Given the description of an element on the screen output the (x, y) to click on. 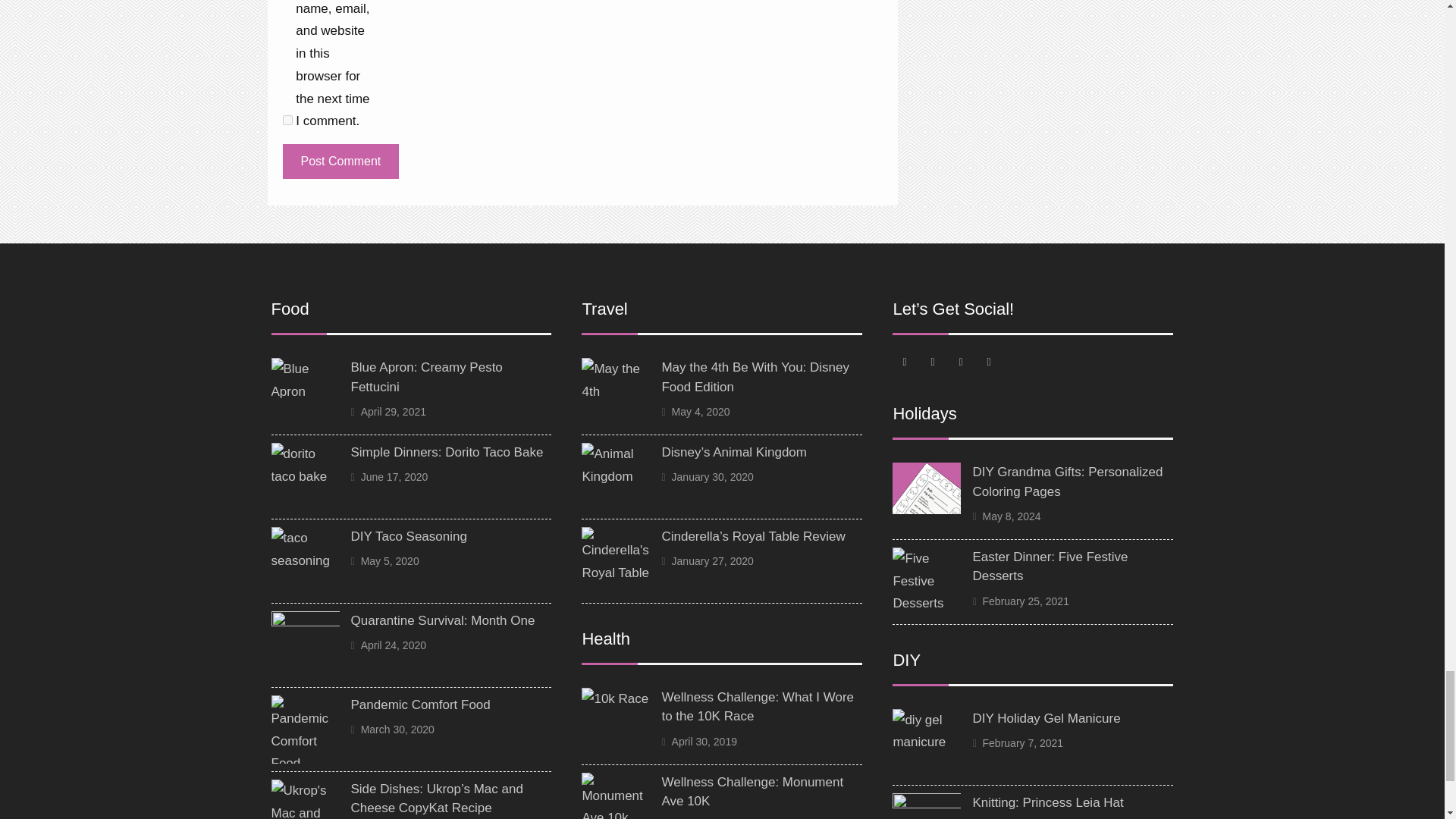
Post Comment (340, 161)
yes (287, 120)
